Given the description of an element on the screen output the (x, y) to click on. 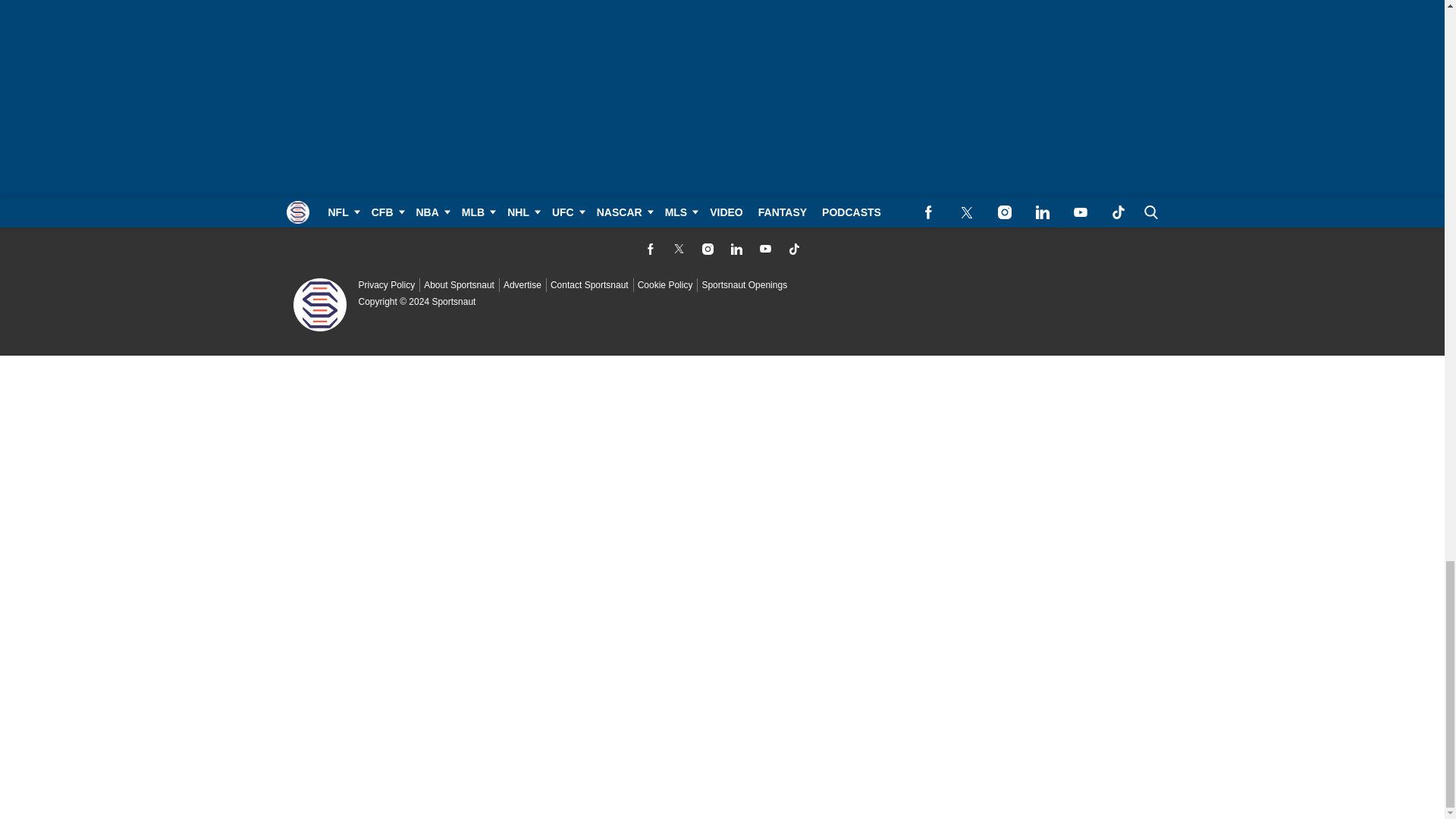
Follow us on Facebook (650, 248)
Connect with us on LinkedIn (736, 248)
Follow us on Twitter (678, 248)
Follow us on Instagram (707, 248)
Subscribe to our YouTube channel (765, 248)
Connect with us on TikTok (794, 248)
